Given the description of an element on the screen output the (x, y) to click on. 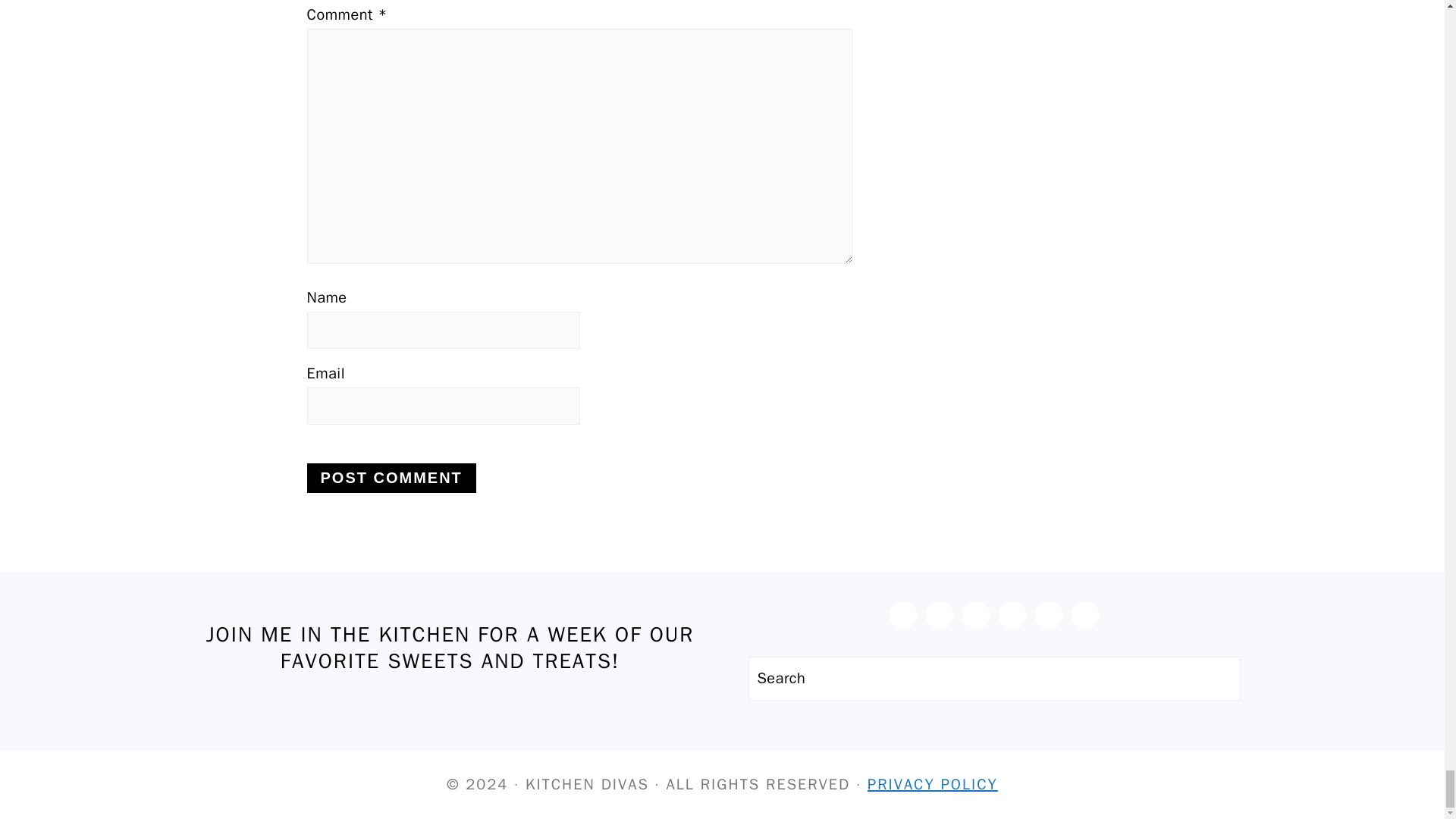
Post Comment (390, 478)
